Given the description of an element on the screen output the (x, y) to click on. 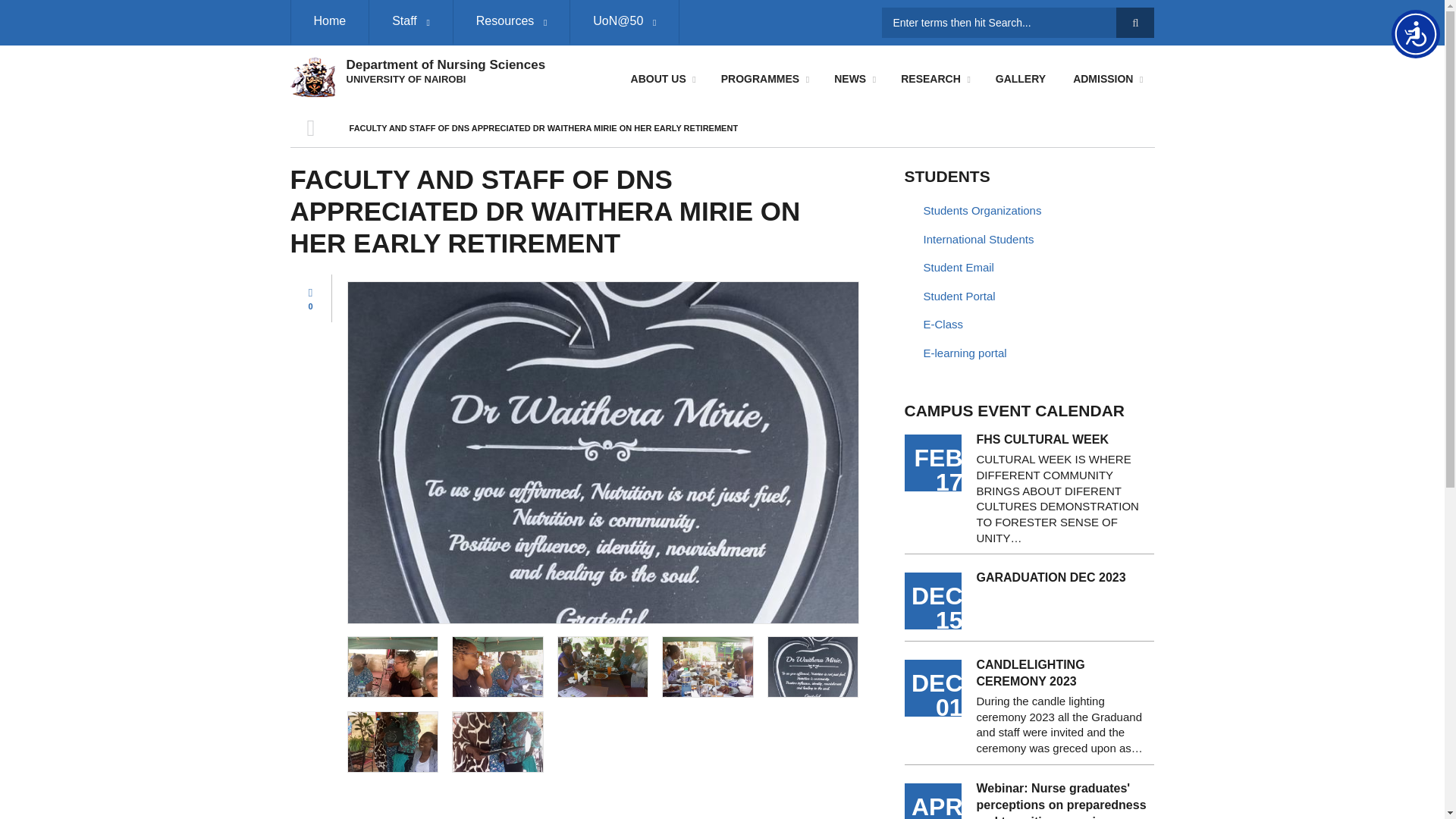
PROGRAMMES (763, 79)
Accessibility Menu (1415, 33)
Dr Wagoro gives Dr Mirie a token on  behalf of DNS (497, 741)
RESEARCH (934, 79)
Search (1135, 22)
Staff (410, 22)
ABOUT US (662, 79)
Dedicated to Dr Mirie (813, 666)
DNS Staff share Lunch with Dr Mirie (497, 666)
Resources (510, 22)
Department of Nursing Sciences (445, 64)
Home (311, 74)
Staff (410, 22)
Home (328, 22)
